Given the description of an element on the screen output the (x, y) to click on. 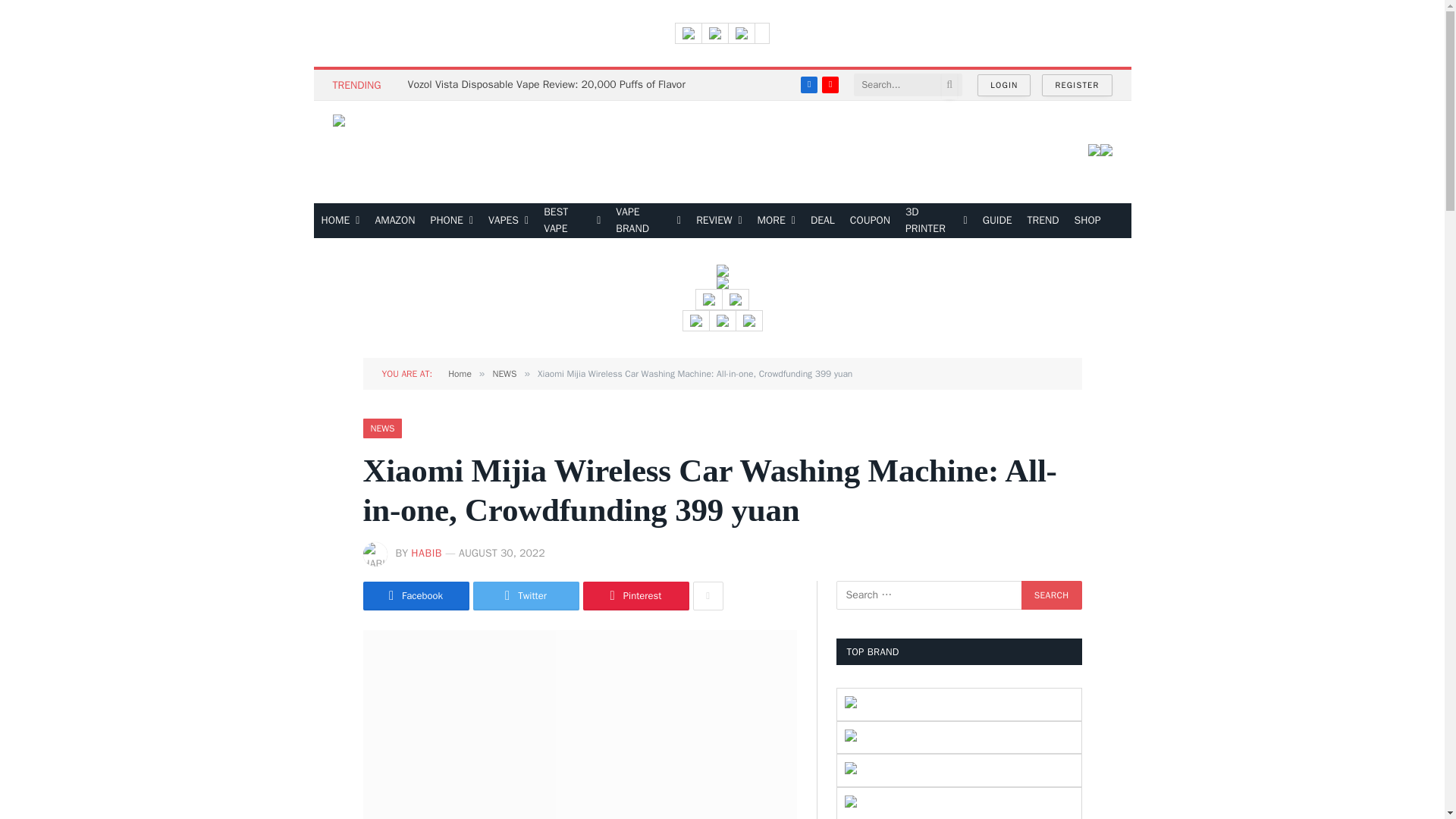
AMAZON (394, 220)
Share on Pinterest (635, 595)
REGISTER (1077, 85)
YouTube (830, 84)
Search (1051, 594)
Facebook (808, 84)
Posts by Habib (426, 553)
PHONE (451, 220)
Search (1051, 594)
